Given the description of an element on the screen output the (x, y) to click on. 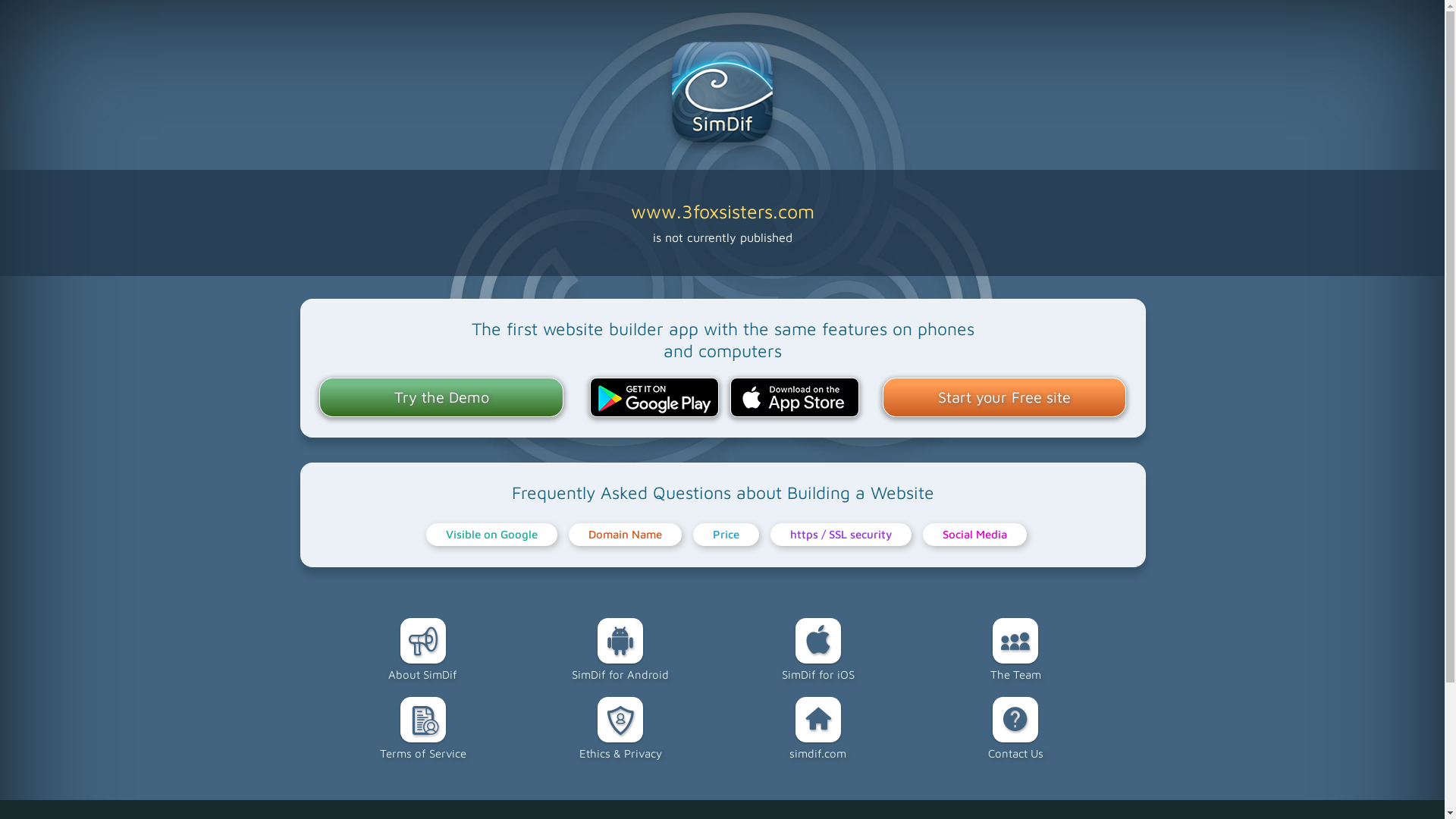
Try the Demo Element type: text (441, 397)
Start your Free site Element type: text (1004, 397)
The website builder app for iPhone and iPad Element type: hover (794, 397)
SimDif for iOS Element type: text (817, 649)
The website builder app for Android Element type: hover (653, 397)
simdif.com Element type: text (817, 728)
About SimDif Element type: text (422, 649)
The Team Element type: text (1014, 649)
Ethics & Privacy Element type: text (619, 728)
How to make a real website with my phone. Element type: hover (722, 95)
Terms of Service Element type: text (422, 728)
SimDif for Android Element type: text (619, 649)
Frequently Asked Questions about Building a Website Element type: text (722, 492)
Contact Us Element type: text (1014, 728)
